Given the description of an element on the screen output the (x, y) to click on. 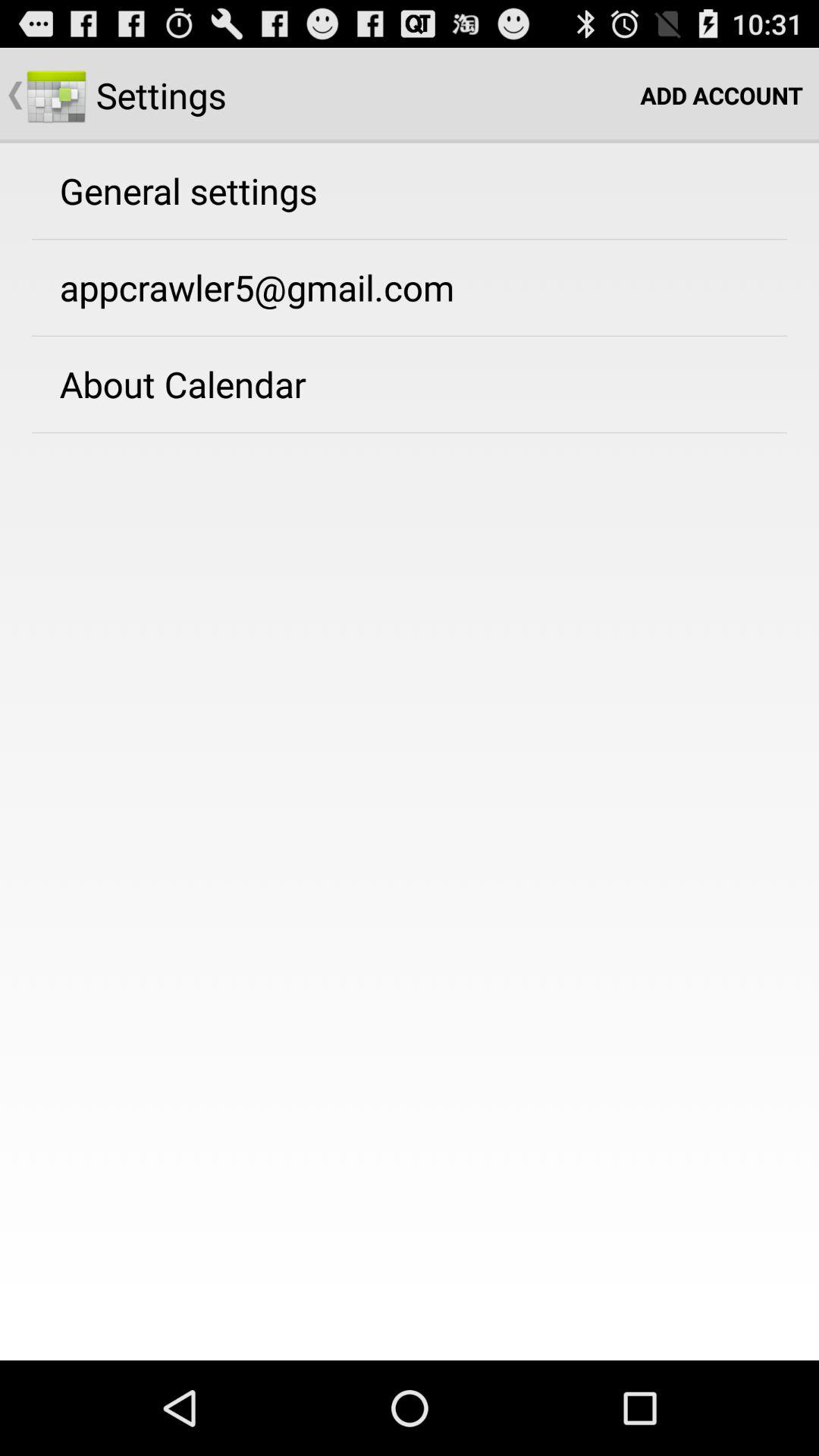
tap item next to the settings icon (721, 95)
